Given the description of an element on the screen output the (x, y) to click on. 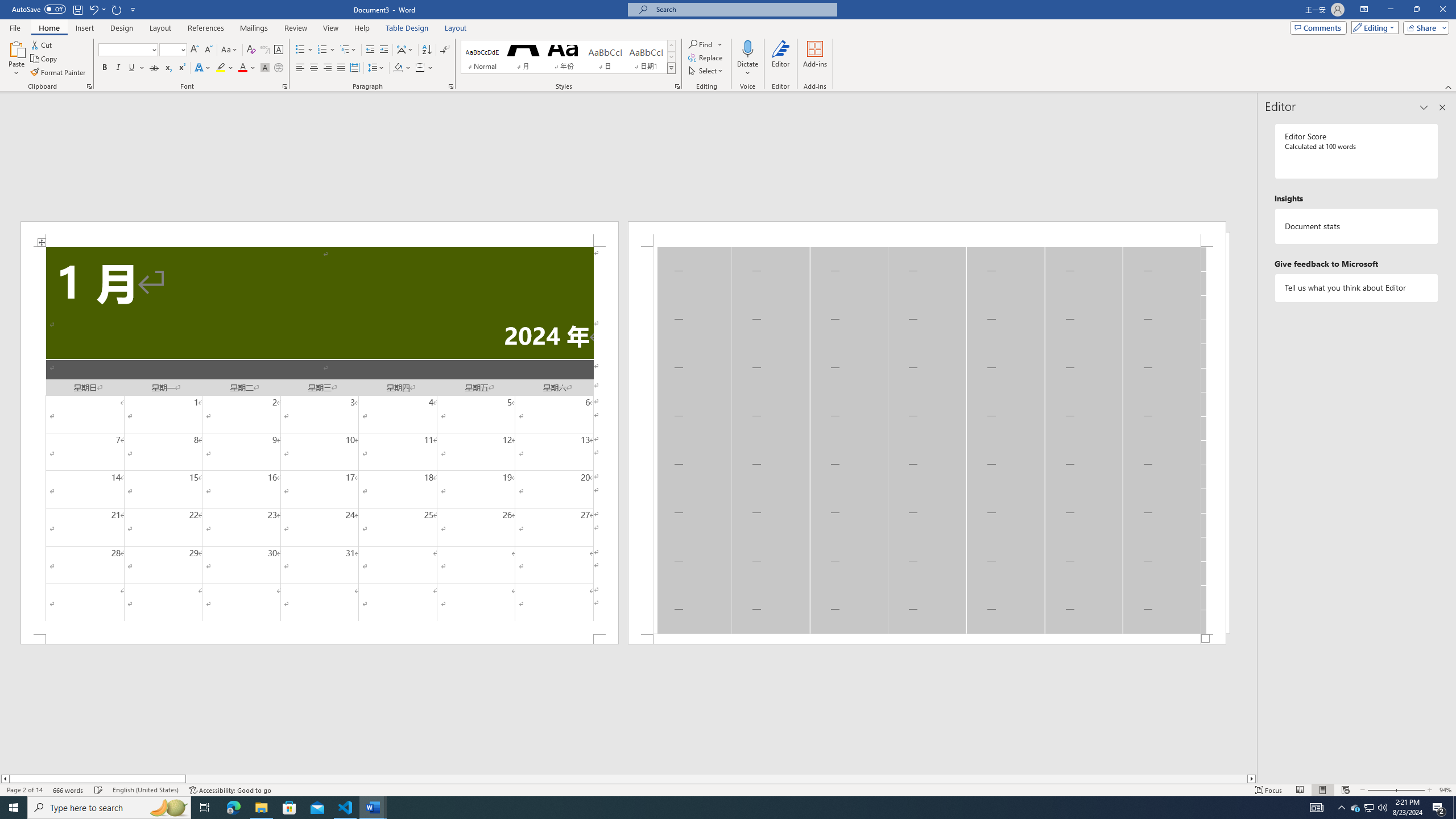
Distributed (354, 67)
Word Count 666 words (68, 790)
Grow Font (193, 49)
Header -Section 1- (926, 233)
Undo Apply Quick Style (96, 9)
AutomationID: QuickStylesGallery (568, 56)
Font Color RGB(255, 0, 0) (241, 67)
